Given the description of an element on the screen output the (x, y) to click on. 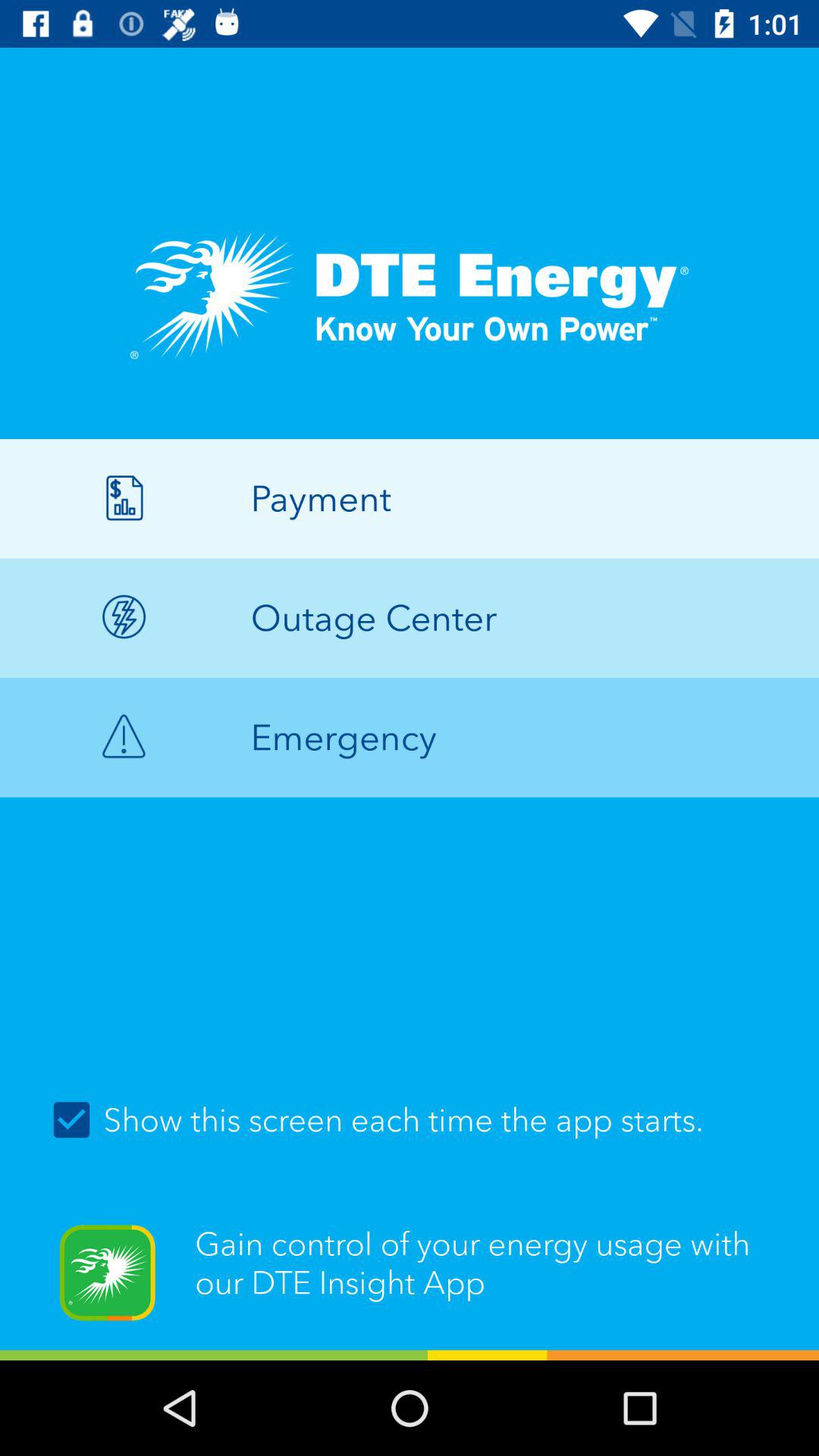
press the icon below outage center icon (409, 737)
